Given the description of an element on the screen output the (x, y) to click on. 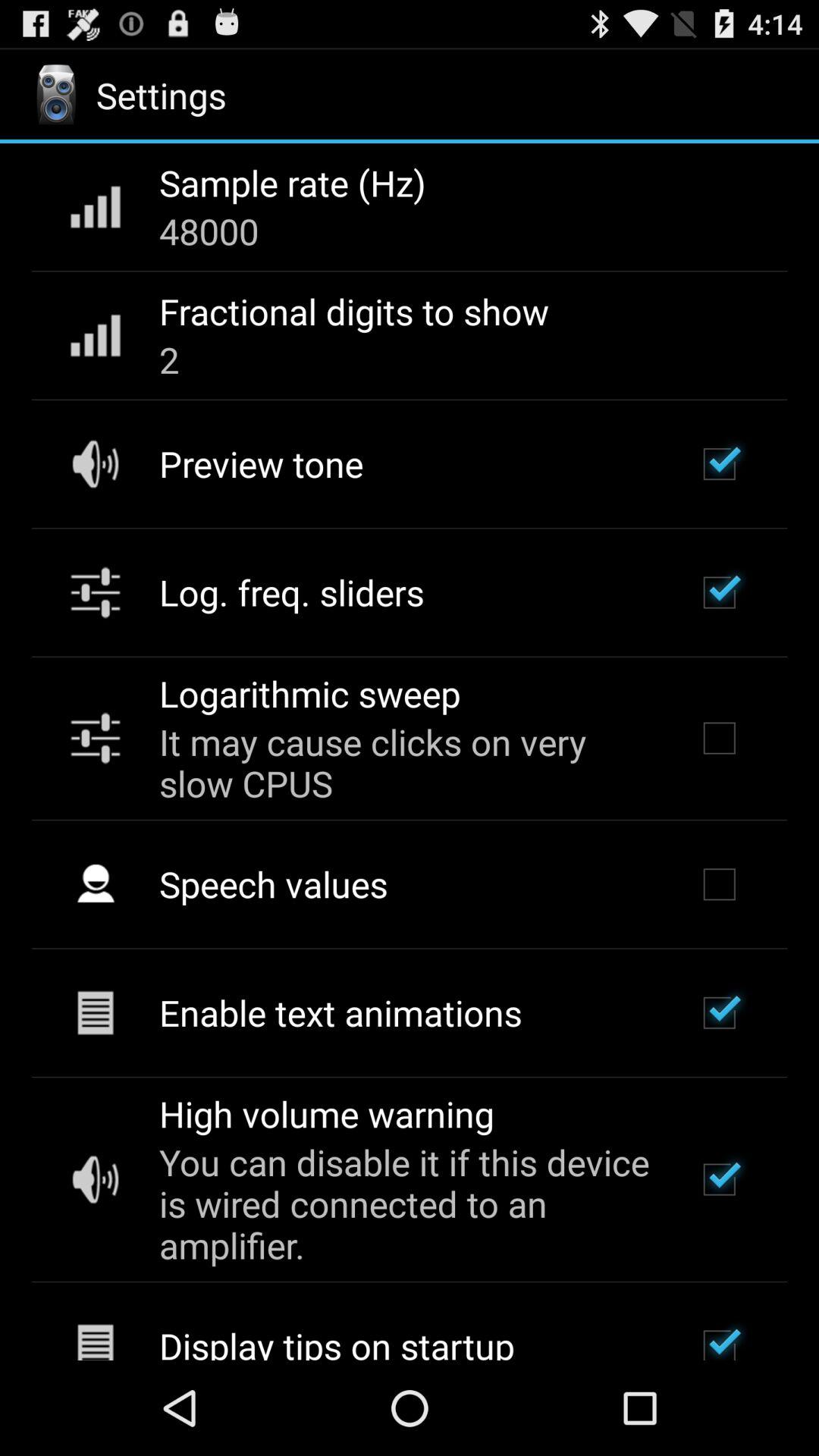
turn off log. freq. sliders app (291, 592)
